Given the description of an element on the screen output the (x, y) to click on. 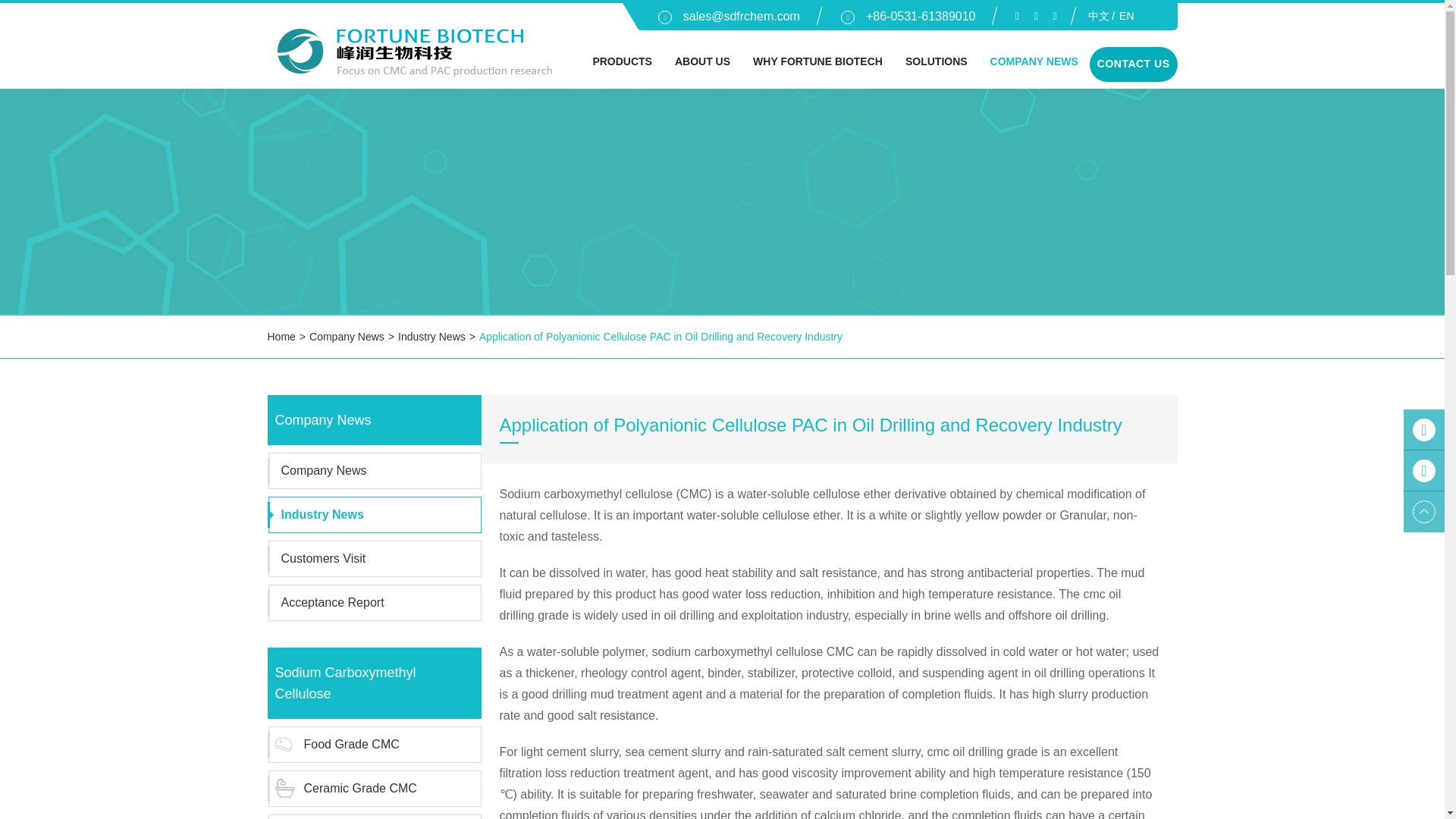
Company News (346, 336)
PRODUCTS (620, 61)
COMPANY NEWS (1033, 61)
Industry News (431, 336)
WHY FORTUNE BIOTECH (817, 61)
CONTACT US (1133, 63)
SOLUTIONS (935, 61)
Home (280, 336)
Company News (346, 336)
EN (1118, 16)
ABOUT US (702, 61)
